Given the description of an element on the screen output the (x, y) to click on. 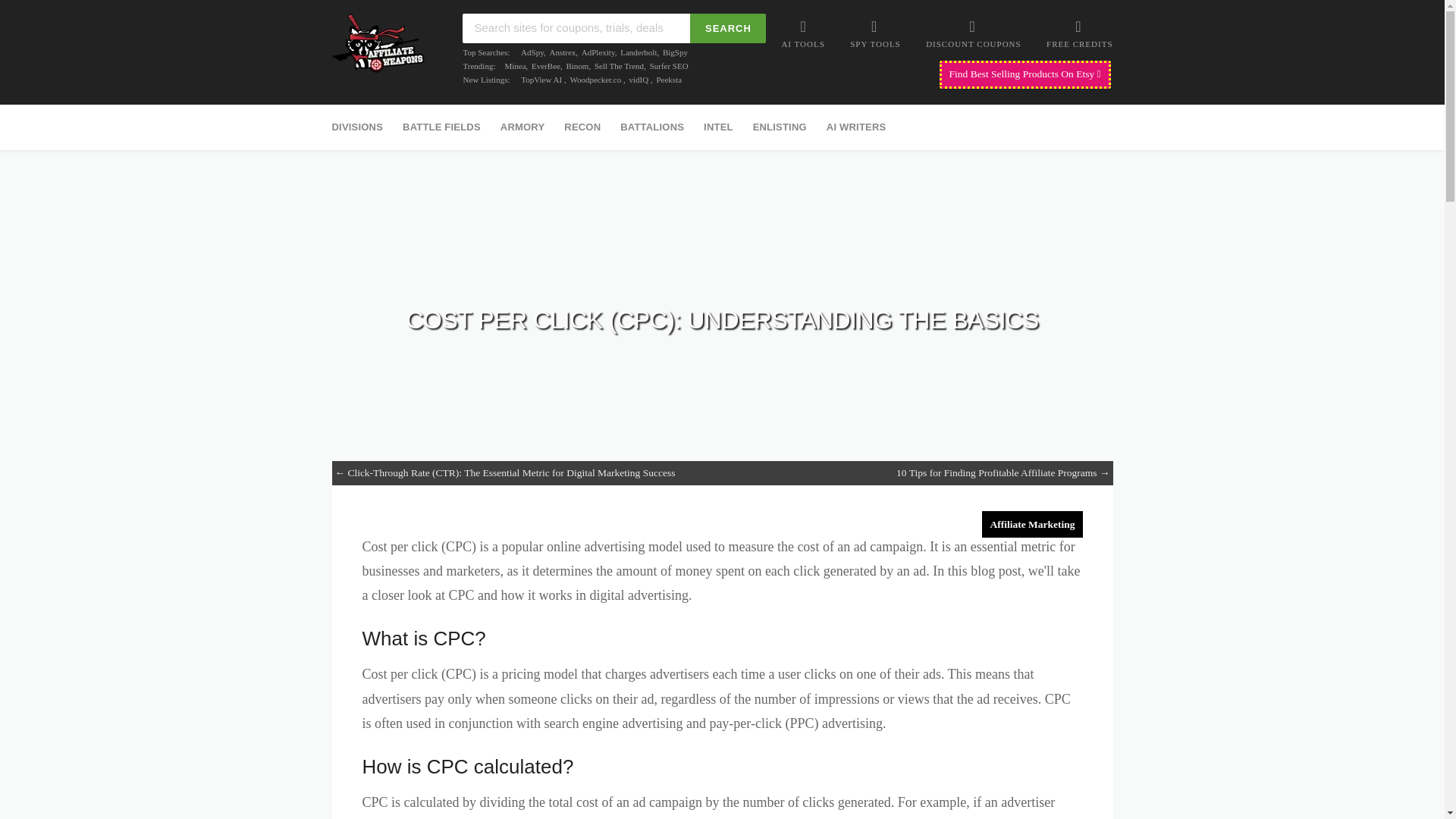
Surfer SEO (668, 65)
Highest discounts on BigSpy (674, 51)
Sell The Trend (618, 65)
View Woodpecker.co (595, 79)
Landerbolt (638, 51)
AI TOOLS (802, 33)
SPY TOOLS (875, 33)
Minea (514, 65)
Peeksta (668, 79)
